Given the description of an element on the screen output the (x, y) to click on. 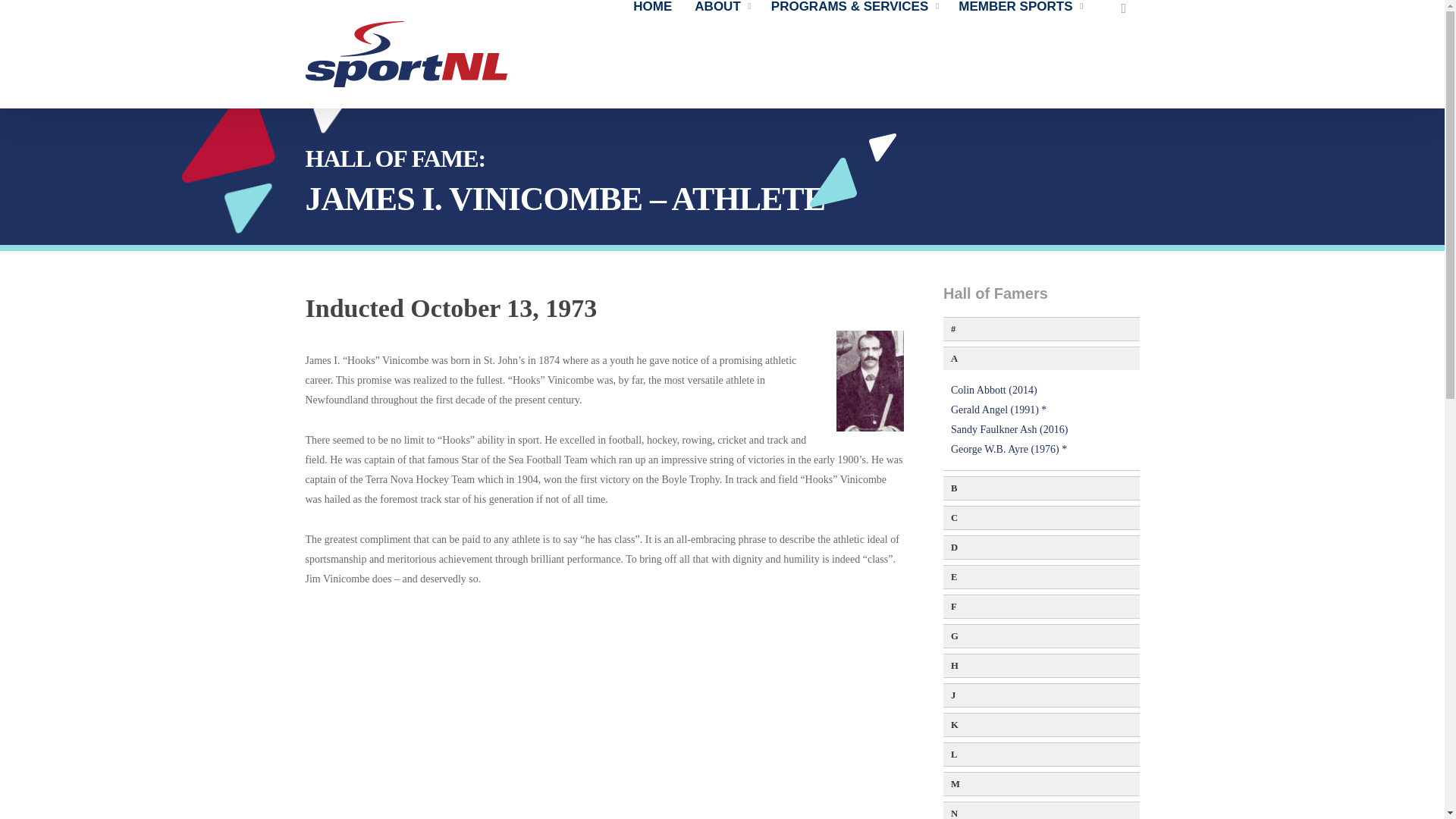
HOME (656, 6)
MEMBER SPORTS (1022, 6)
ABOUT (724, 6)
